Given the description of an element on the screen output the (x, y) to click on. 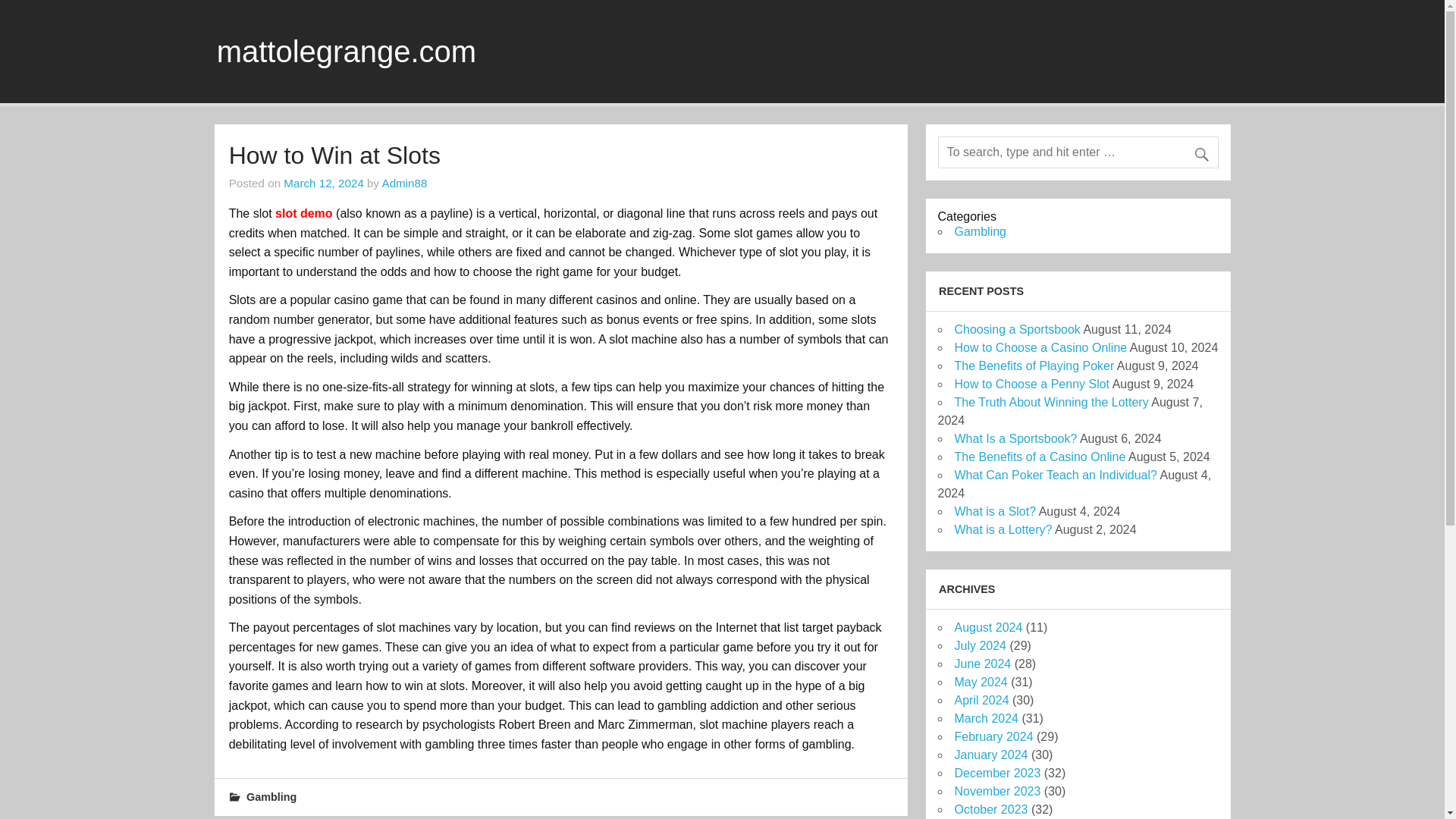
May 2024 (980, 681)
How to Choose a Penny Slot (1031, 383)
February 2024 (992, 736)
3:41 am (323, 182)
What is a Lottery? (1002, 529)
What is a Slot? (994, 511)
April 2024 (981, 699)
March 12, 2024 (323, 182)
December 2023 (997, 772)
Choosing a Sportsbook (1016, 328)
